Given the description of an element on the screen output the (x, y) to click on. 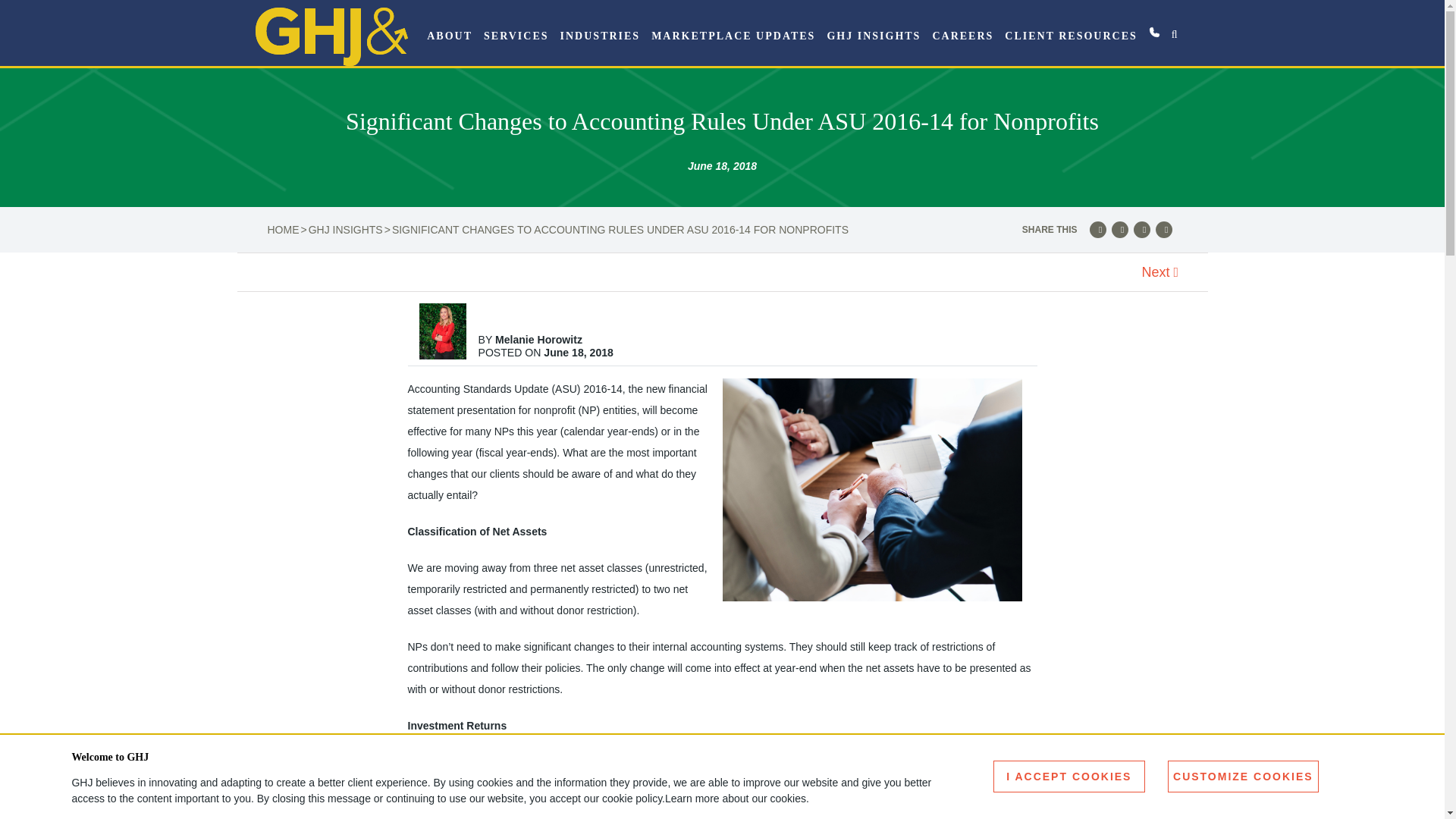
SERVICES (515, 37)
INDUSTRIES (600, 37)
